Given the description of an element on the screen output the (x, y) to click on. 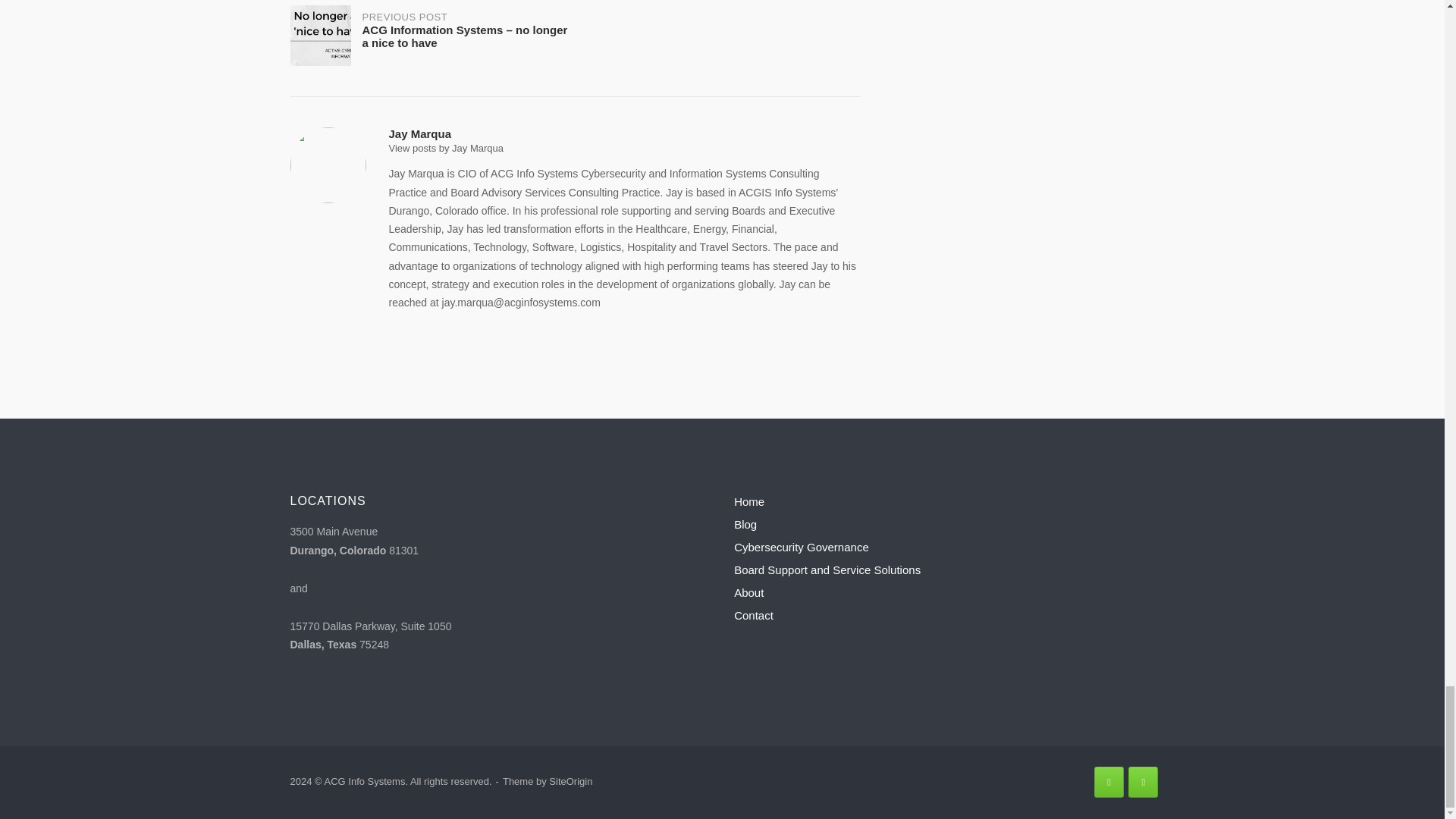
About (747, 592)
ACG Info Systems on Linkedin (1109, 781)
Cybersecurity Governance (801, 546)
Home (748, 501)
ACG Info Systems on Envelope (1142, 781)
Contact (753, 615)
View posts by Jay Marqua (445, 147)
Board Support and Service Solutions (826, 569)
SiteOrigin (570, 781)
Blog (745, 523)
